Given the description of an element on the screen output the (x, y) to click on. 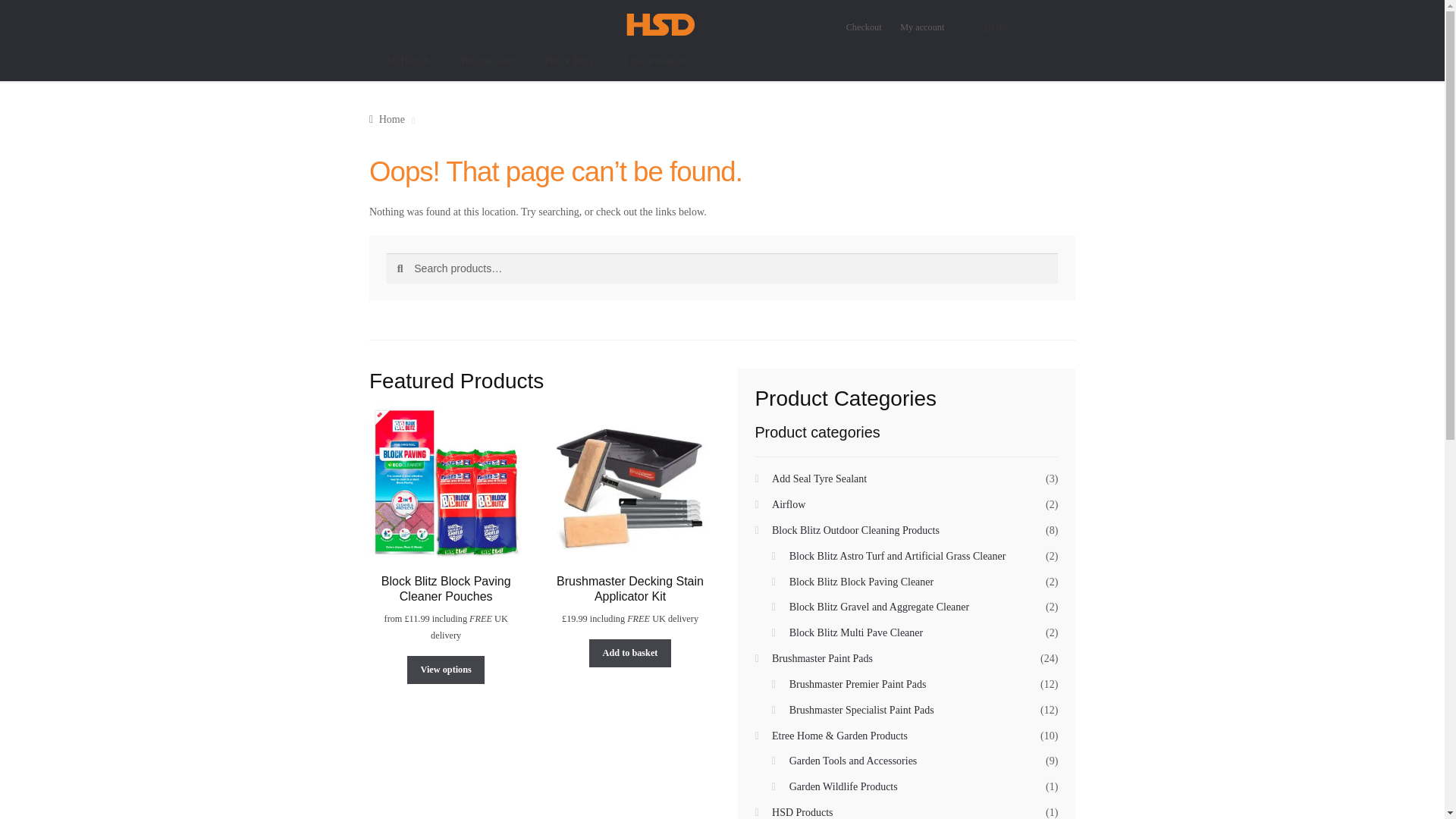
Block Blitz Outdoor Cleaning Products (855, 530)
Add to basket (630, 653)
Block Blitz Gravel and Aggregate Cleaner (879, 606)
View your shopping basket (1029, 28)
Brushmaster (487, 61)
All HSD Brands (407, 61)
Airflow (788, 504)
View options (445, 669)
My account (921, 27)
Garden Tools and Accessories (853, 760)
